Given the description of an element on the screen output the (x, y) to click on. 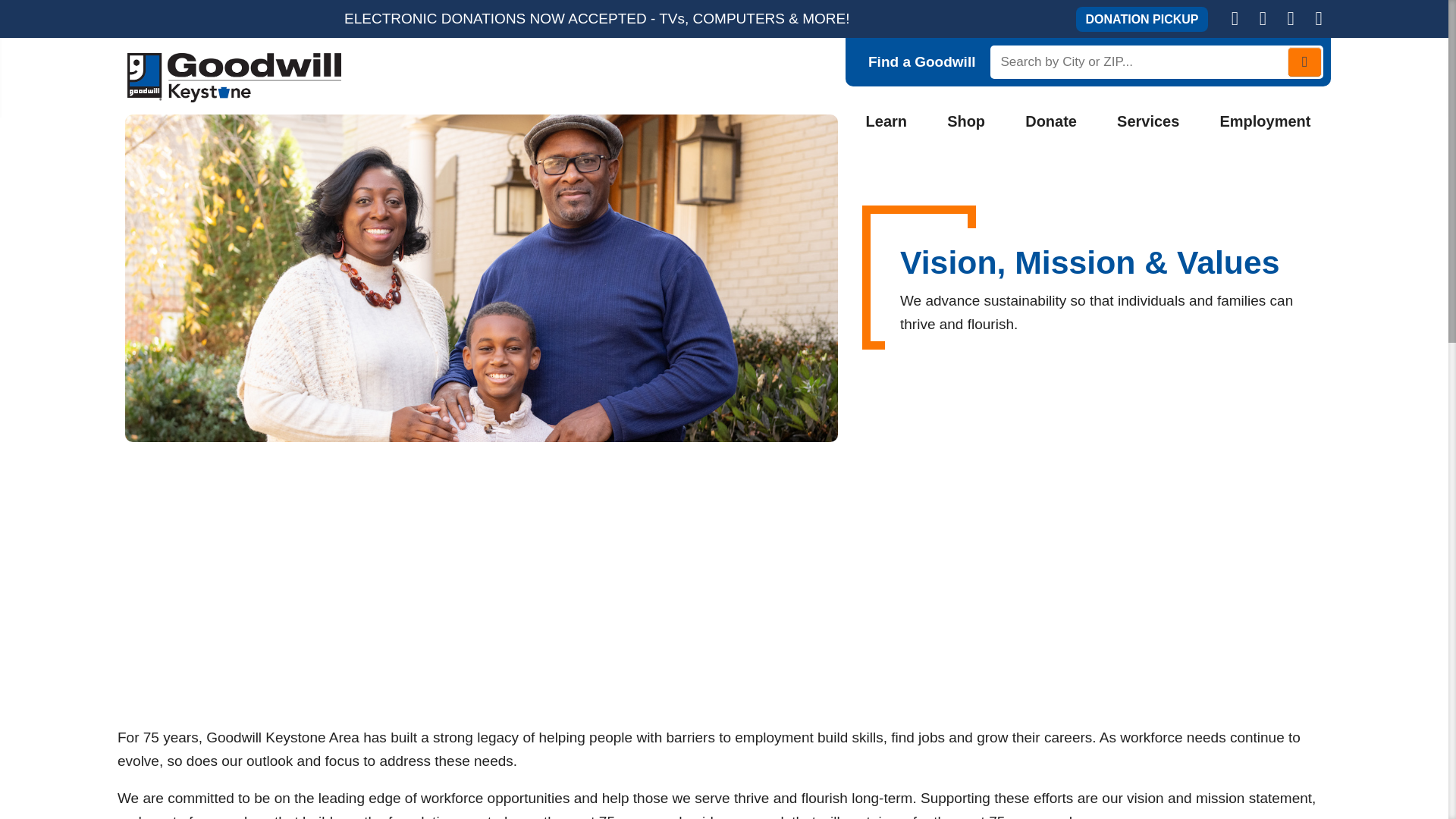
Learn (886, 121)
Visit us on LinkedIn (1318, 18)
Search (1304, 61)
DONATION PICKUP (1141, 18)
Follow us on Facebook (1262, 18)
Services (1148, 121)
Donate (1051, 121)
Search (1304, 61)
Shop (966, 121)
Follow us on Instagram (1290, 18)
